Given the description of an element on the screen output the (x, y) to click on. 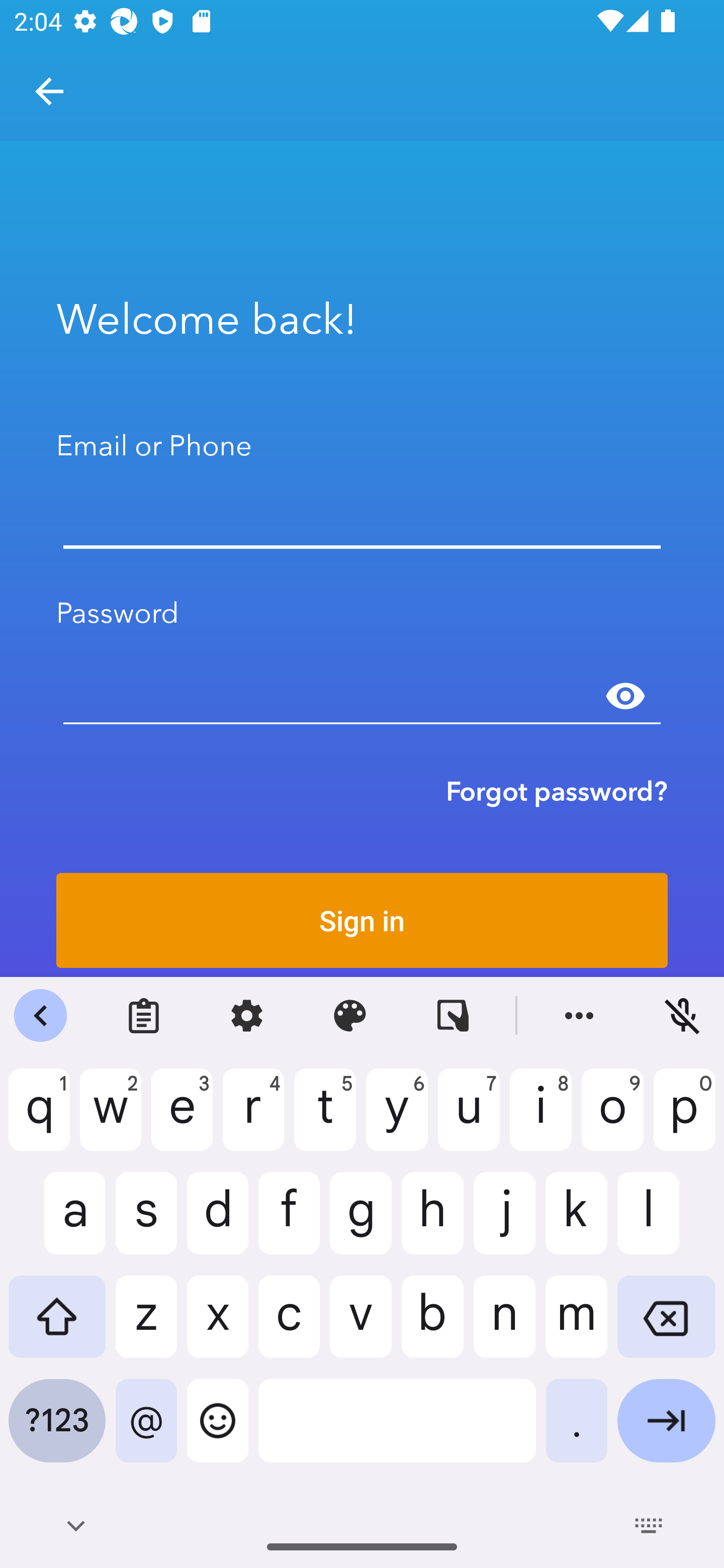
Navigate up (49, 91)
Show password (625, 695)
Forgot password? (556, 790)
Sign in (361, 920)
